Given the description of an element on the screen output the (x, y) to click on. 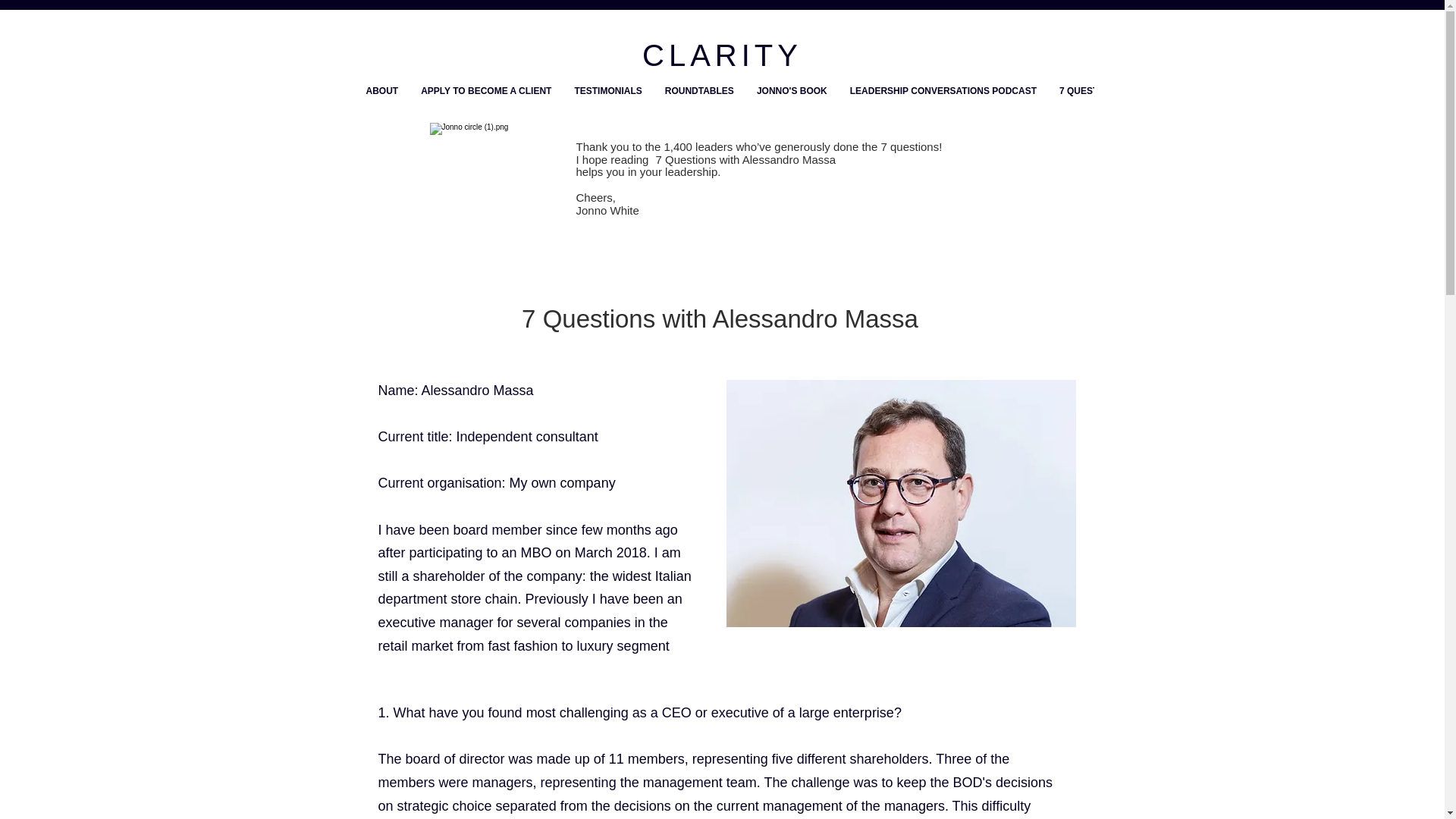
ROUNDTABLES (699, 103)
LEADERSHIP CONVERSATIONS PODCAST (943, 103)
TESTIMONIALS (607, 103)
CLARITY (722, 55)
ABOUT (382, 103)
7 Questions with Alessandro Massa (900, 503)
APPLY TO BECOME A CLIENT (485, 103)
JONNO'S BOOK (791, 103)
7 QUESTIONS SERIES (1107, 103)
